Given the description of an element on the screen output the (x, y) to click on. 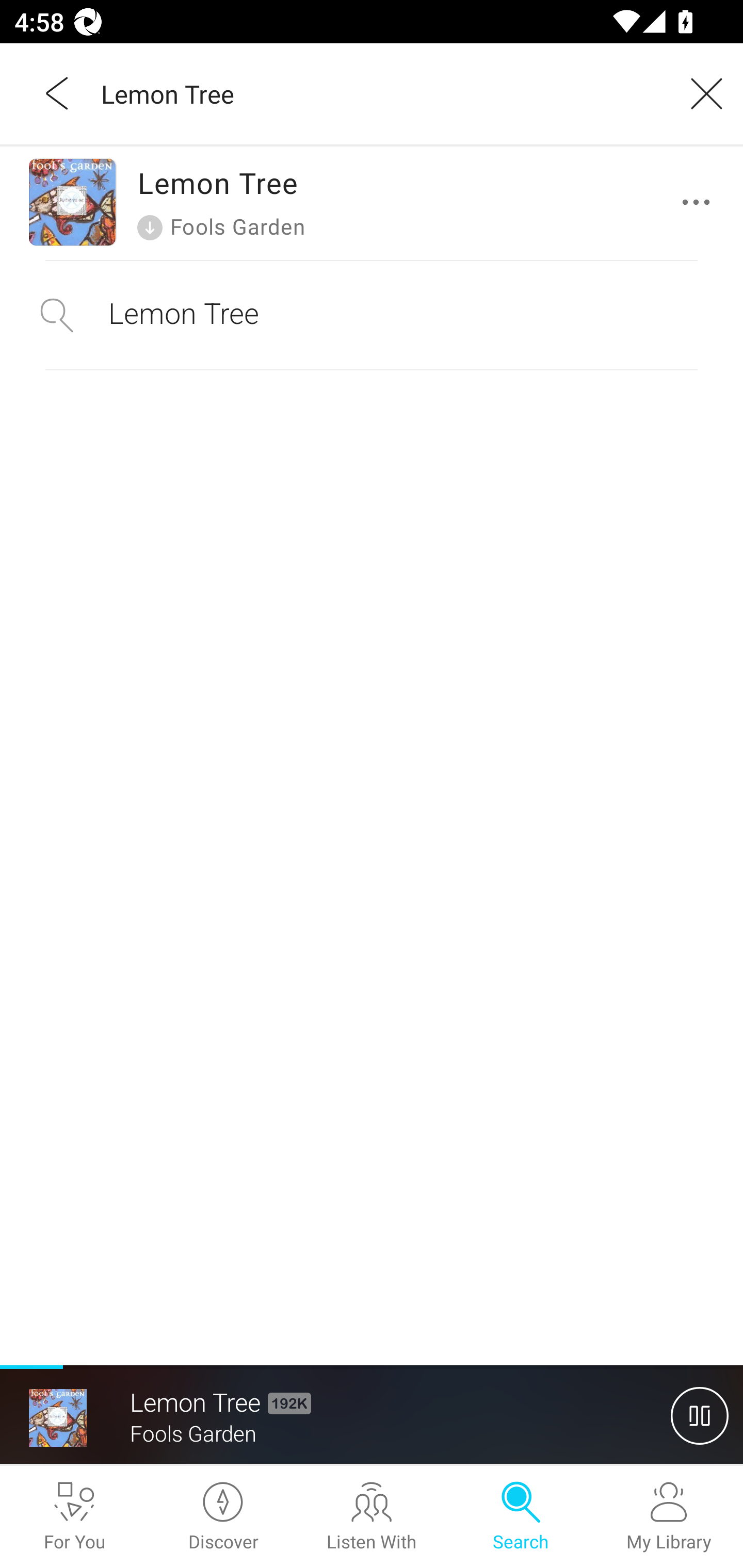
Lemon Tree (378, 92)
Clear query (699, 92)
Back,outside of the list (57, 93)
更多操作選項 (699, 202)
Lemon Tree (371, 315)
暫停播放 (699, 1415)
For You (74, 1517)
Discover (222, 1517)
Listen With (371, 1517)
Search (519, 1517)
My Library (668, 1517)
